Given the description of an element on the screen output the (x, y) to click on. 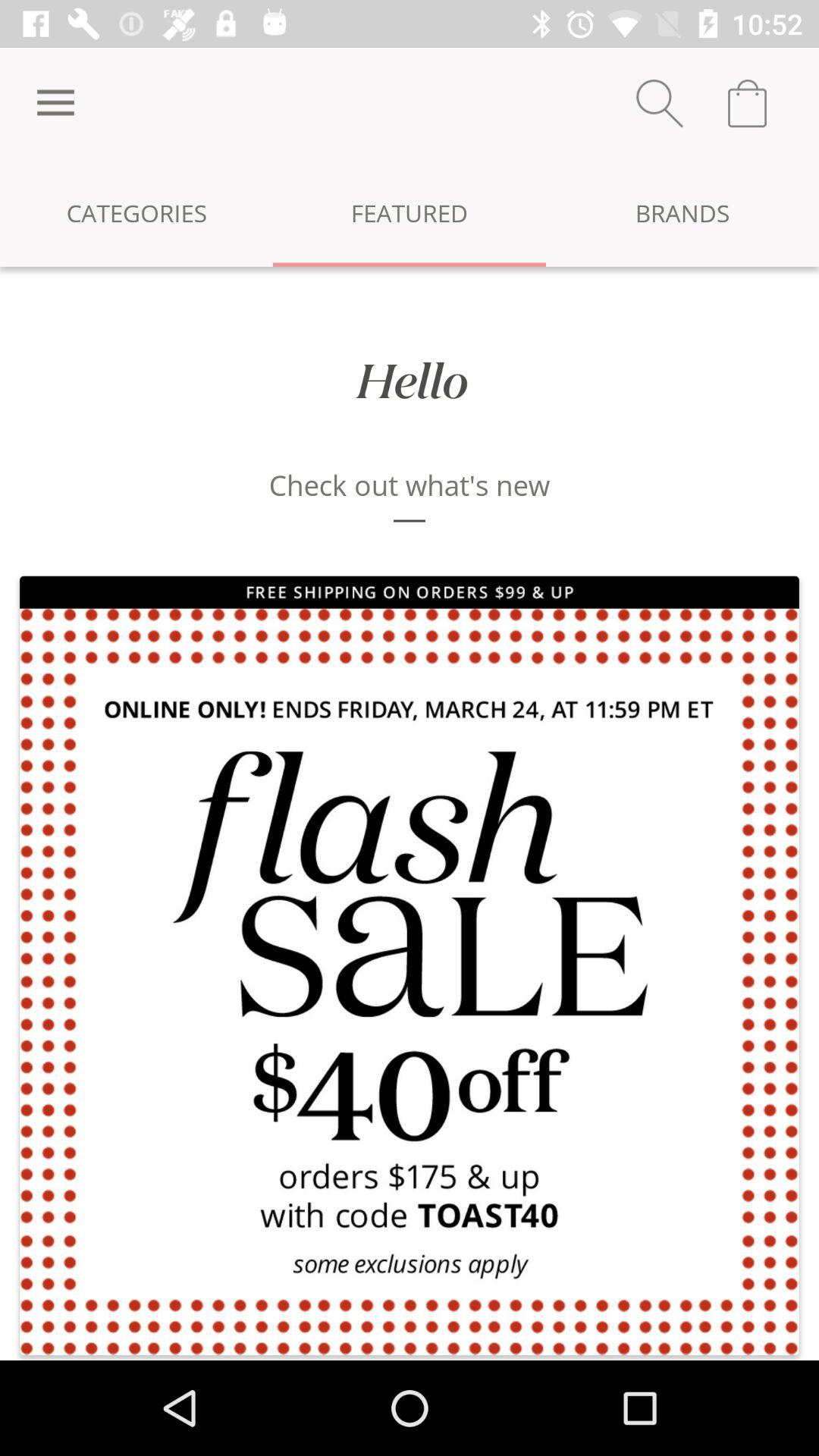
serce (659, 103)
